Given the description of an element on the screen output the (x, y) to click on. 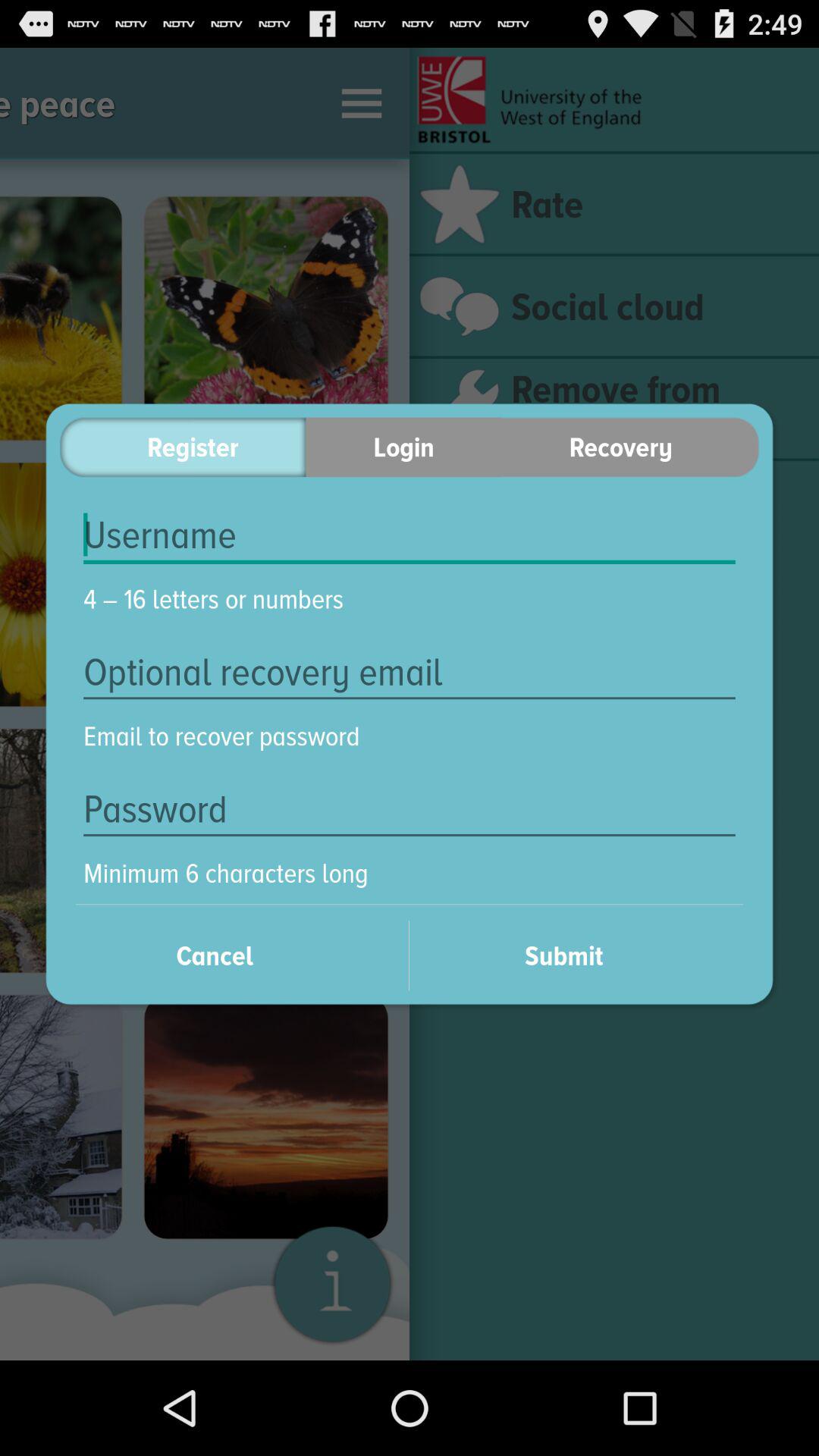
choose the icon below the 4 16 letters item (409, 672)
